Given the description of an element on the screen output the (x, y) to click on. 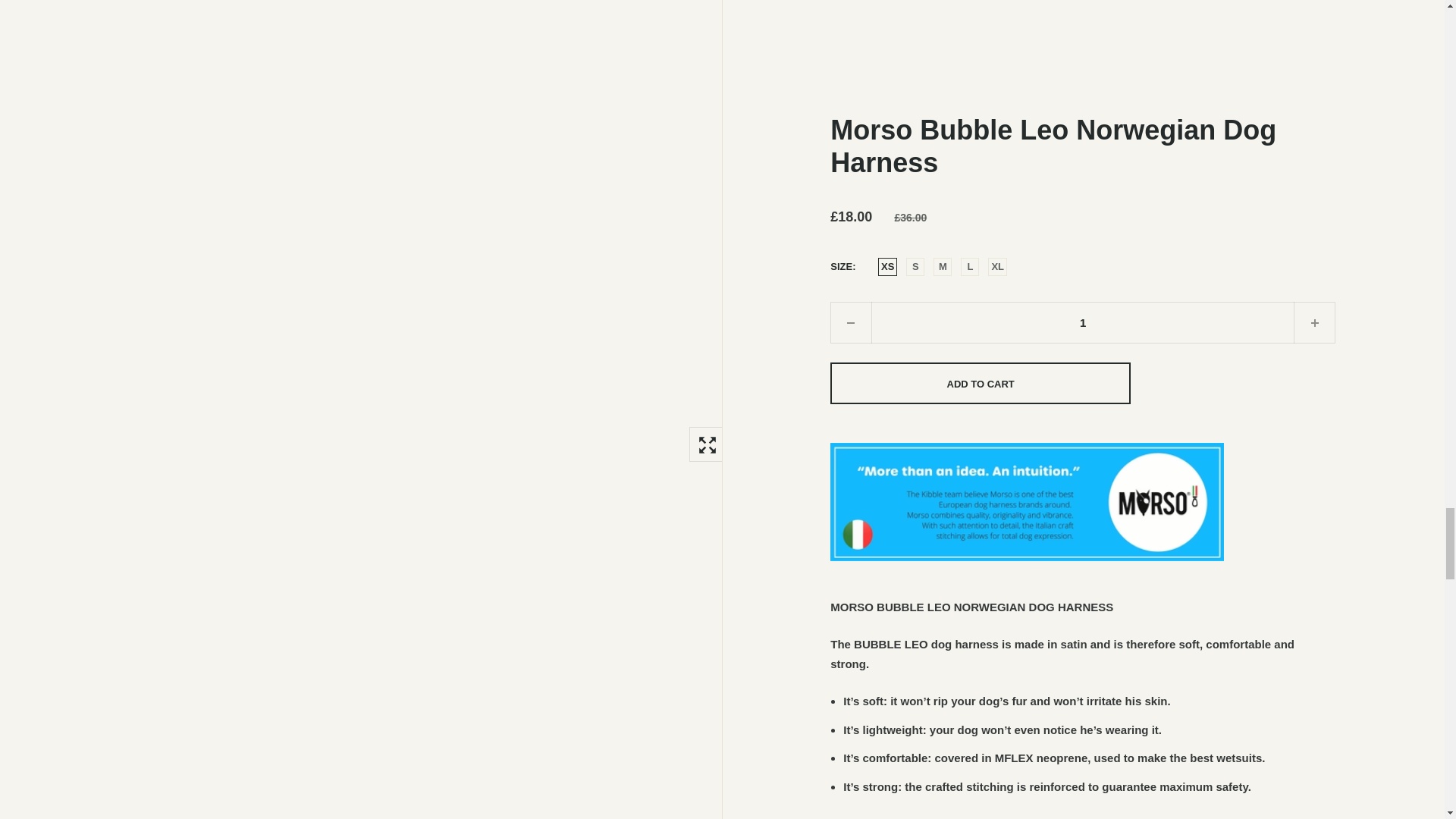
Zoom in (705, 443)
